Given the description of an element on the screen output the (x, y) to click on. 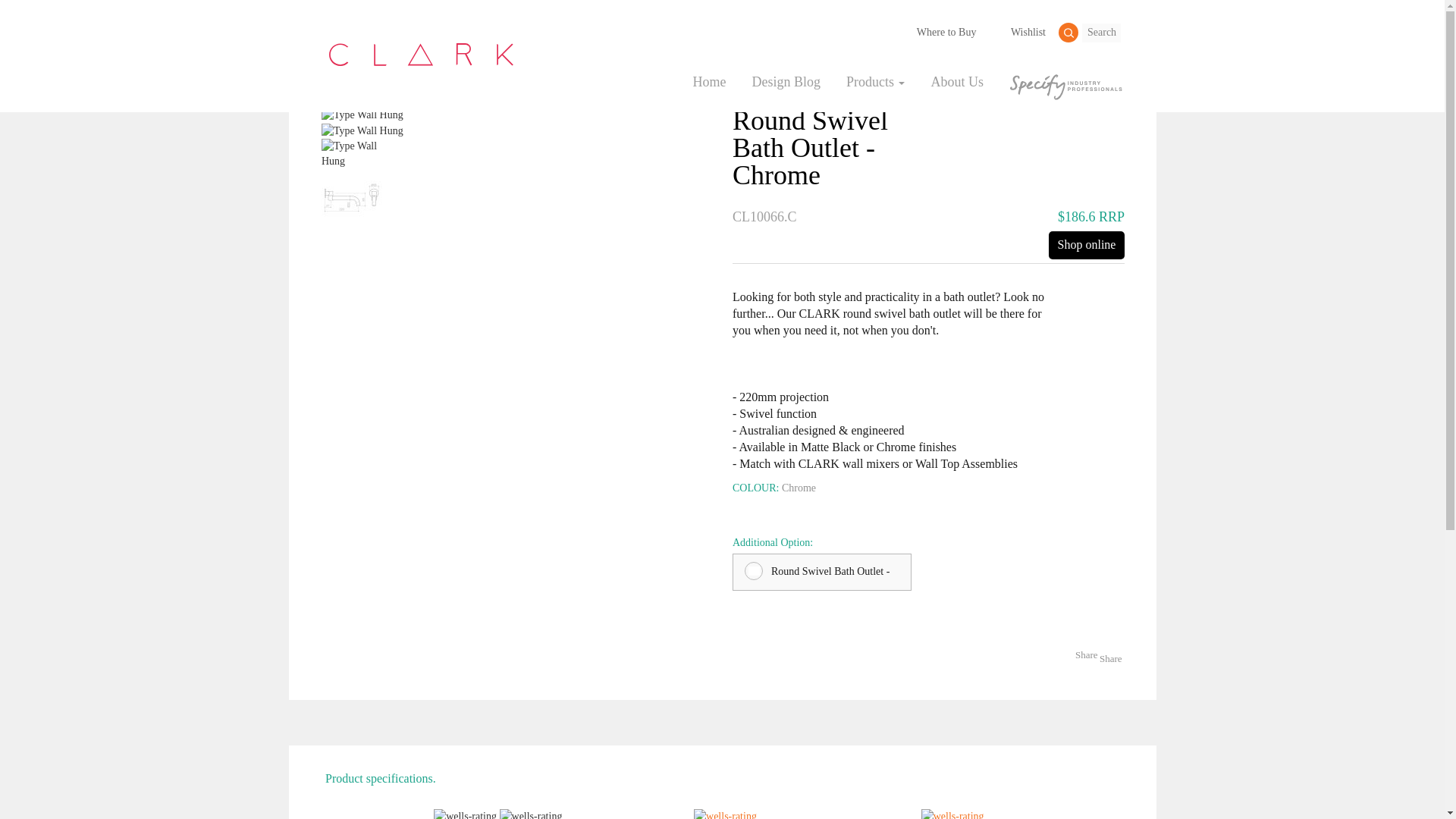
Bathroom (376, 43)
Home (708, 81)
Round Swivel Bath Outlet - Chrome (821, 571)
Specify (1065, 86)
About Us (957, 81)
Shop online (1086, 244)
Products (318, 43)
Add to wishlist (697, 122)
Wishlist (1019, 29)
